Given the description of an element on the screen output the (x, y) to click on. 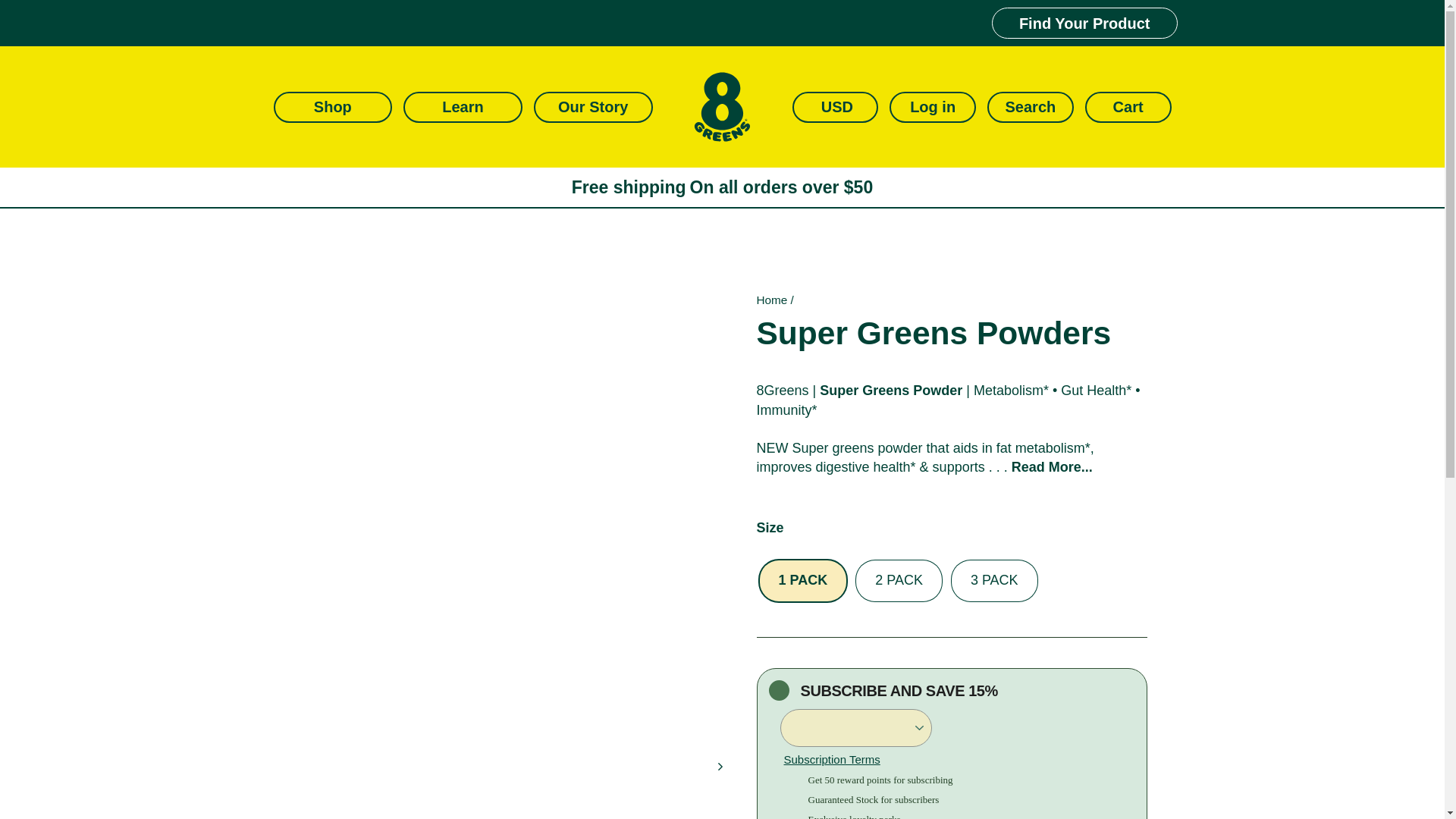
Back to the frontpage (772, 299)
subscription (778, 690)
